Given the description of an element on the screen output the (x, y) to click on. 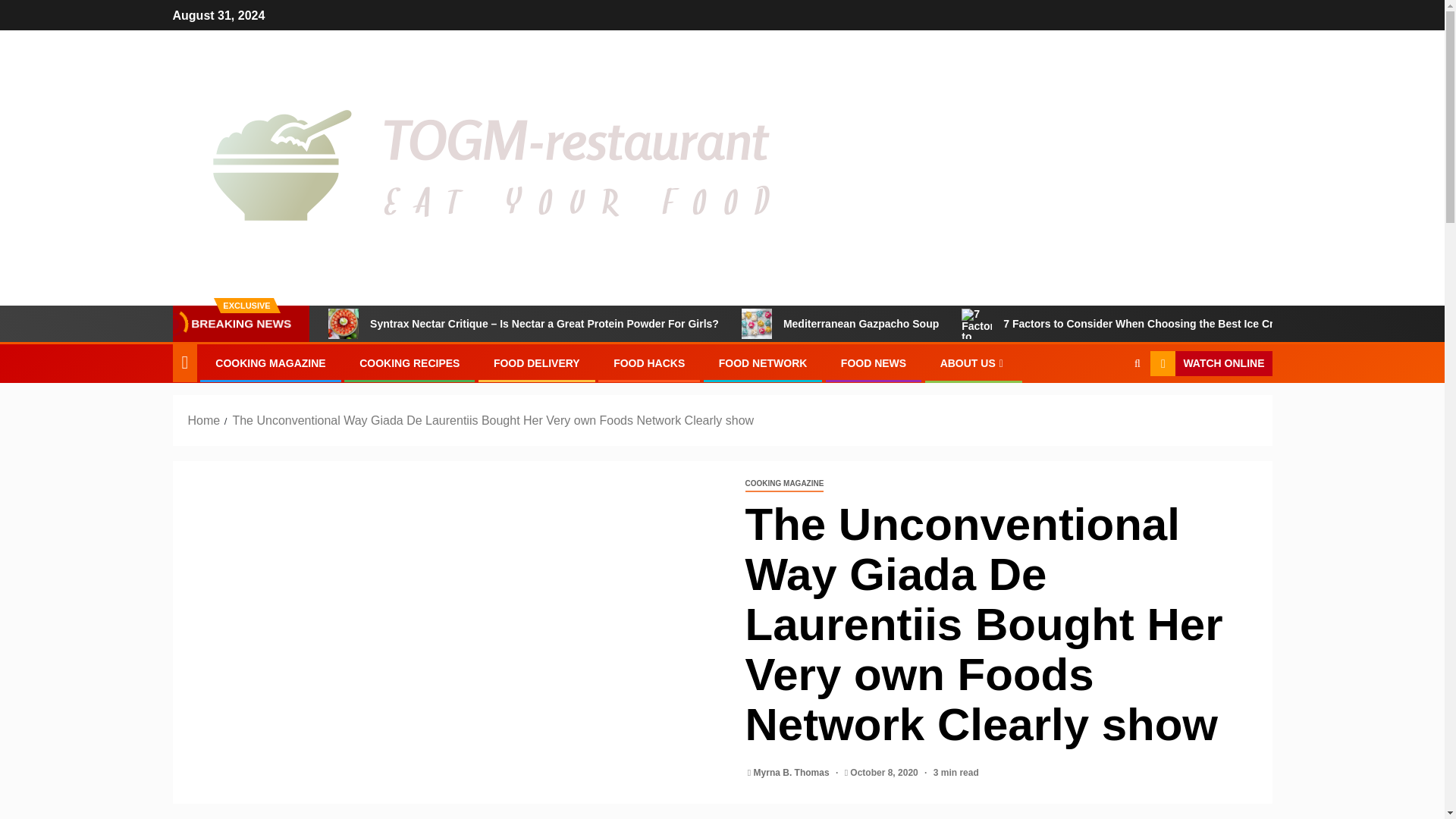
Mediterranean Gazpacho Soup (840, 323)
Mediterranean Gazpacho Soup (756, 323)
Search (1107, 410)
FOOD NEWS (873, 363)
COOKING RECIPES (409, 363)
ABOUT US (973, 363)
Myrna B. Thomas (792, 772)
COOKING MAGAZINE (784, 483)
Home (204, 420)
